Given the description of an element on the screen output the (x, y) to click on. 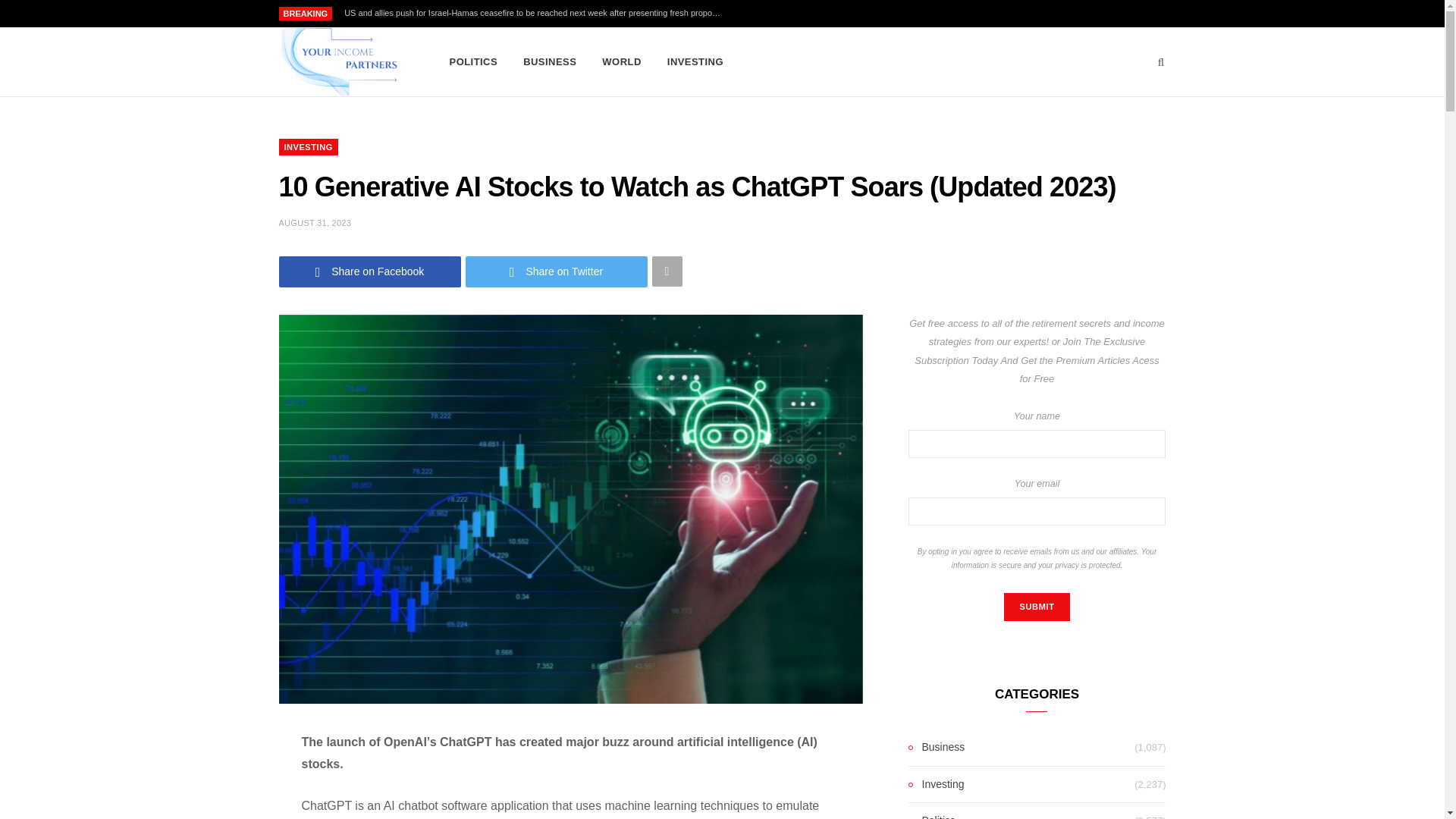
AUGUST 31, 2023 (315, 222)
Share on Twitter (556, 271)
Your Income Partners (339, 61)
WORLD (621, 61)
BUSINESS (550, 61)
POLITICS (473, 61)
Share on Facebook (370, 271)
Share on Twitter (556, 271)
